Given the description of an element on the screen output the (x, y) to click on. 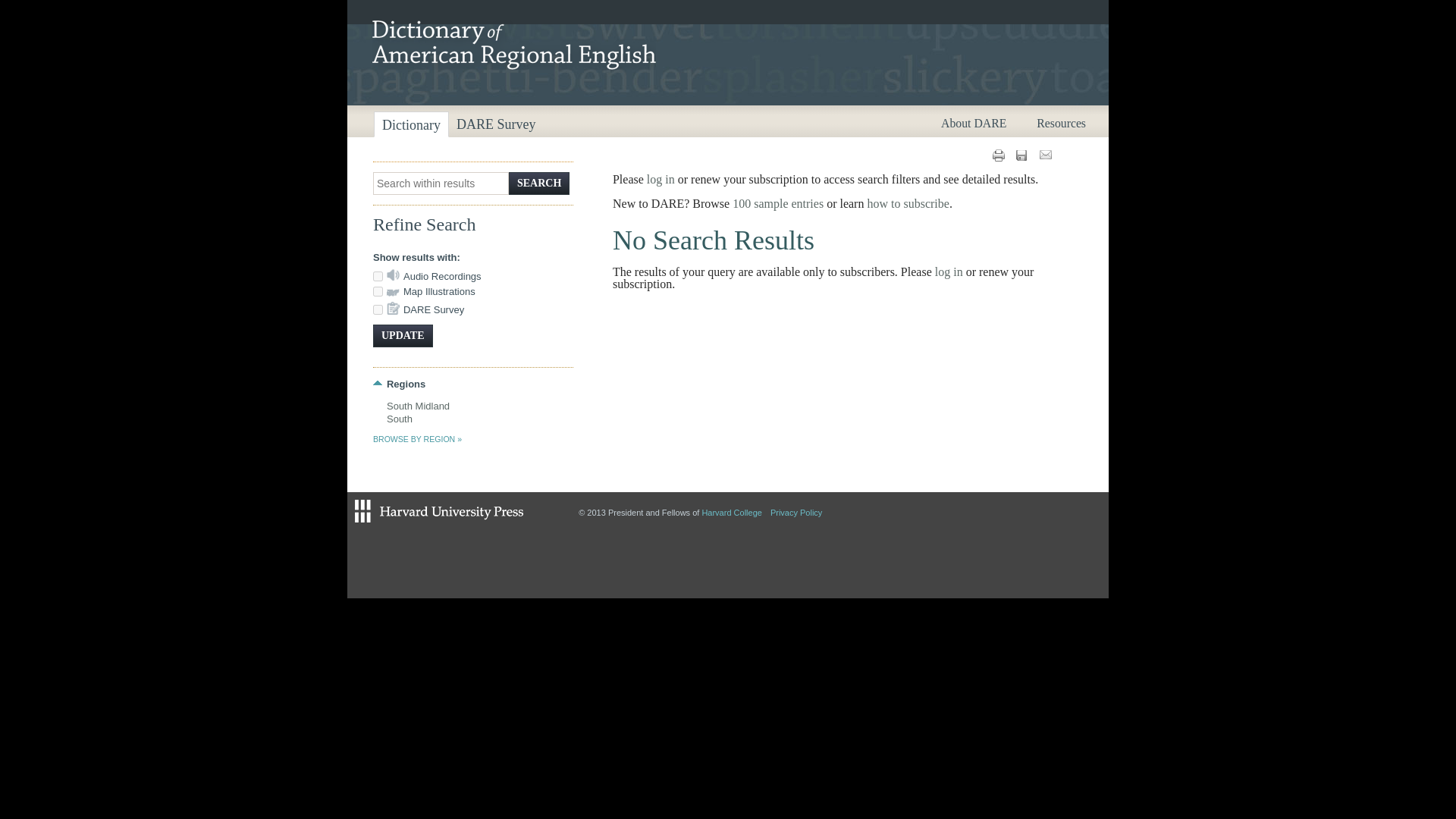
Update (402, 335)
Update (402, 335)
BROWSE BY REGION (416, 438)
true (377, 309)
About DARE (973, 123)
DARE Survey (496, 124)
Resources (1061, 123)
Search (538, 182)
true (377, 291)
South Midland (418, 405)
Email this link (1045, 155)
Search (538, 182)
Dictionary (411, 124)
South (399, 419)
Search (538, 182)
